Given the description of an element on the screen output the (x, y) to click on. 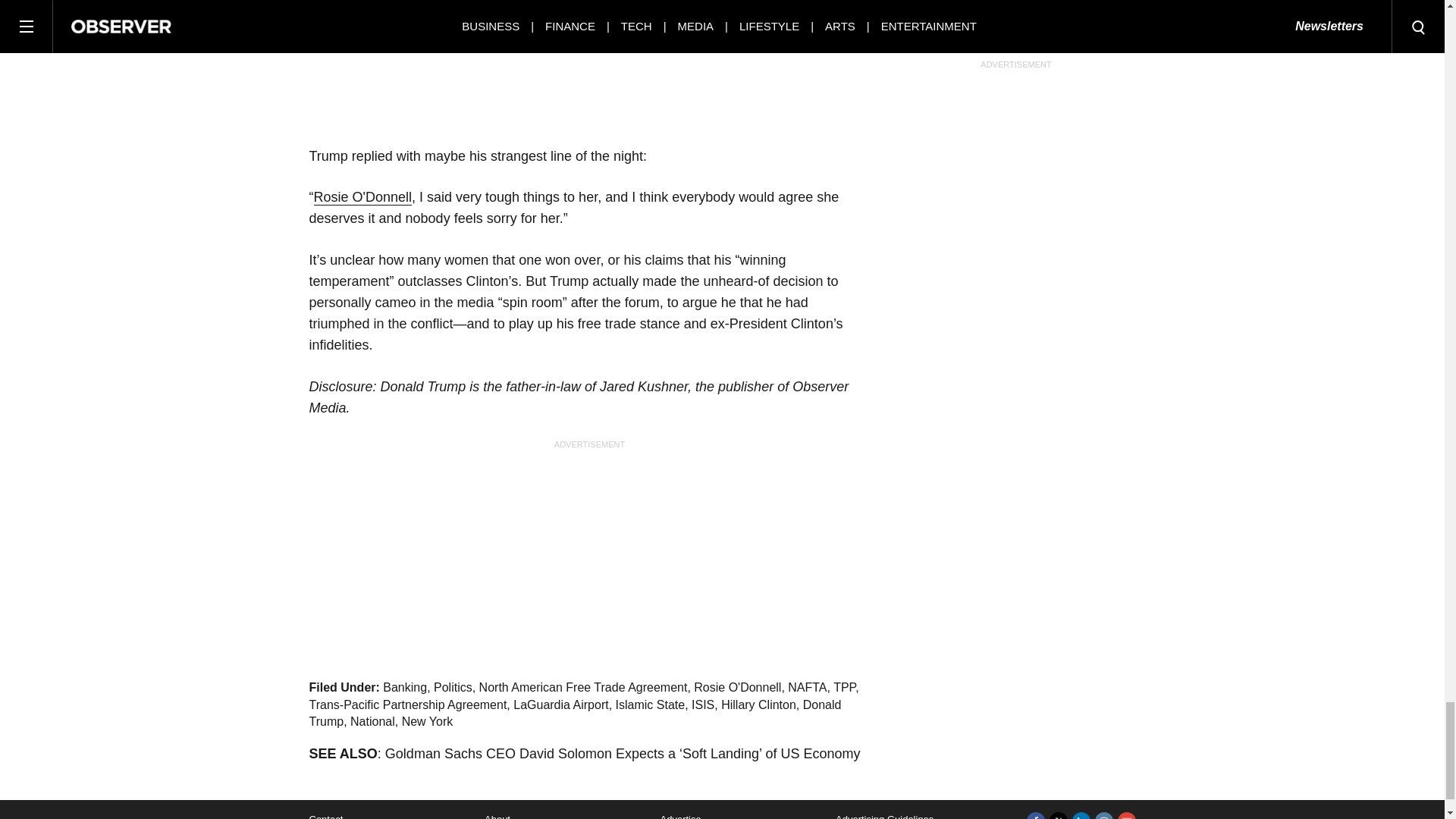
Rosie O'Donnell (363, 197)
